Given the description of an element on the screen output the (x, y) to click on. 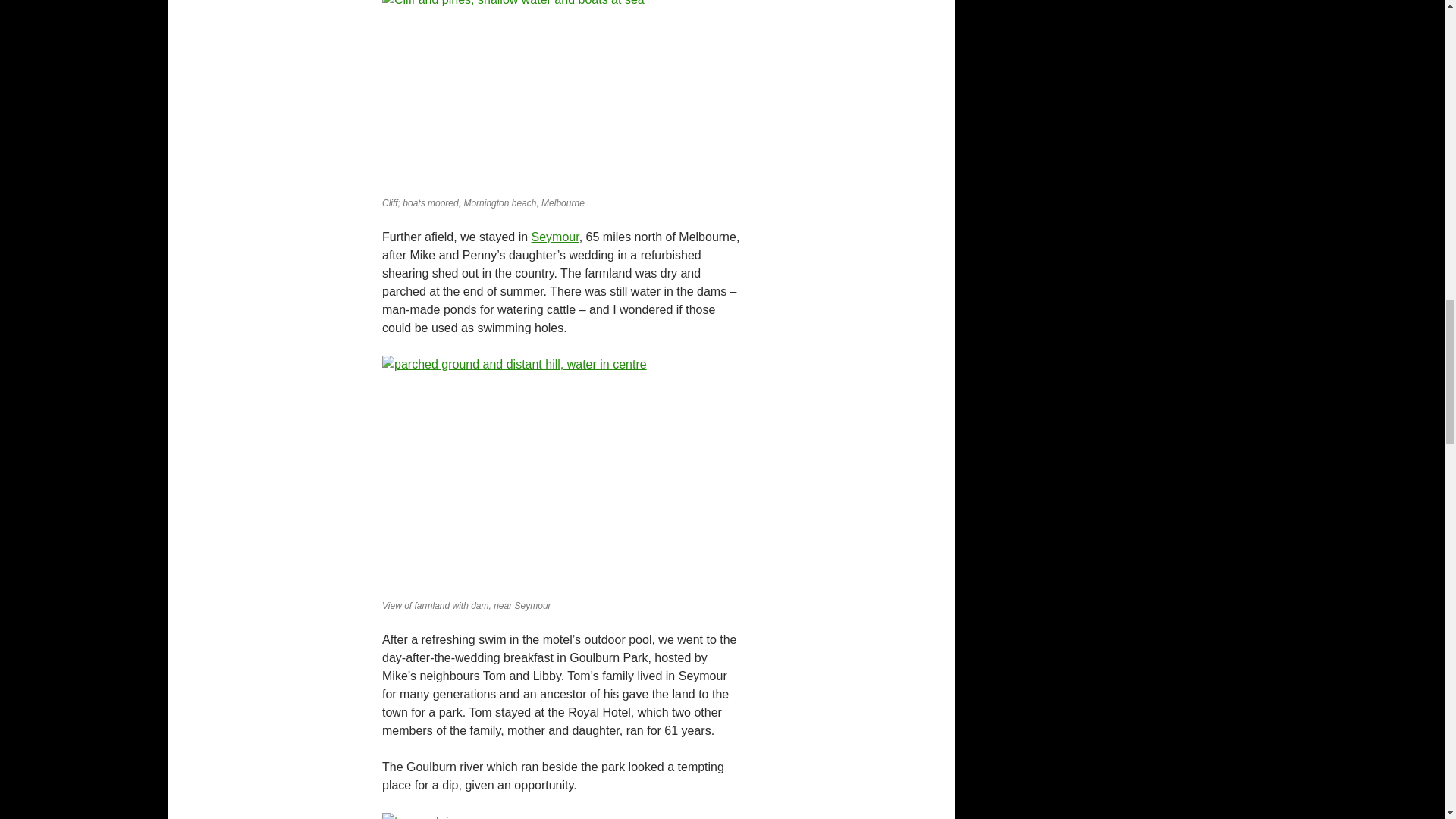
Seymour (555, 236)
